Given the description of an element on the screen output the (x, y) to click on. 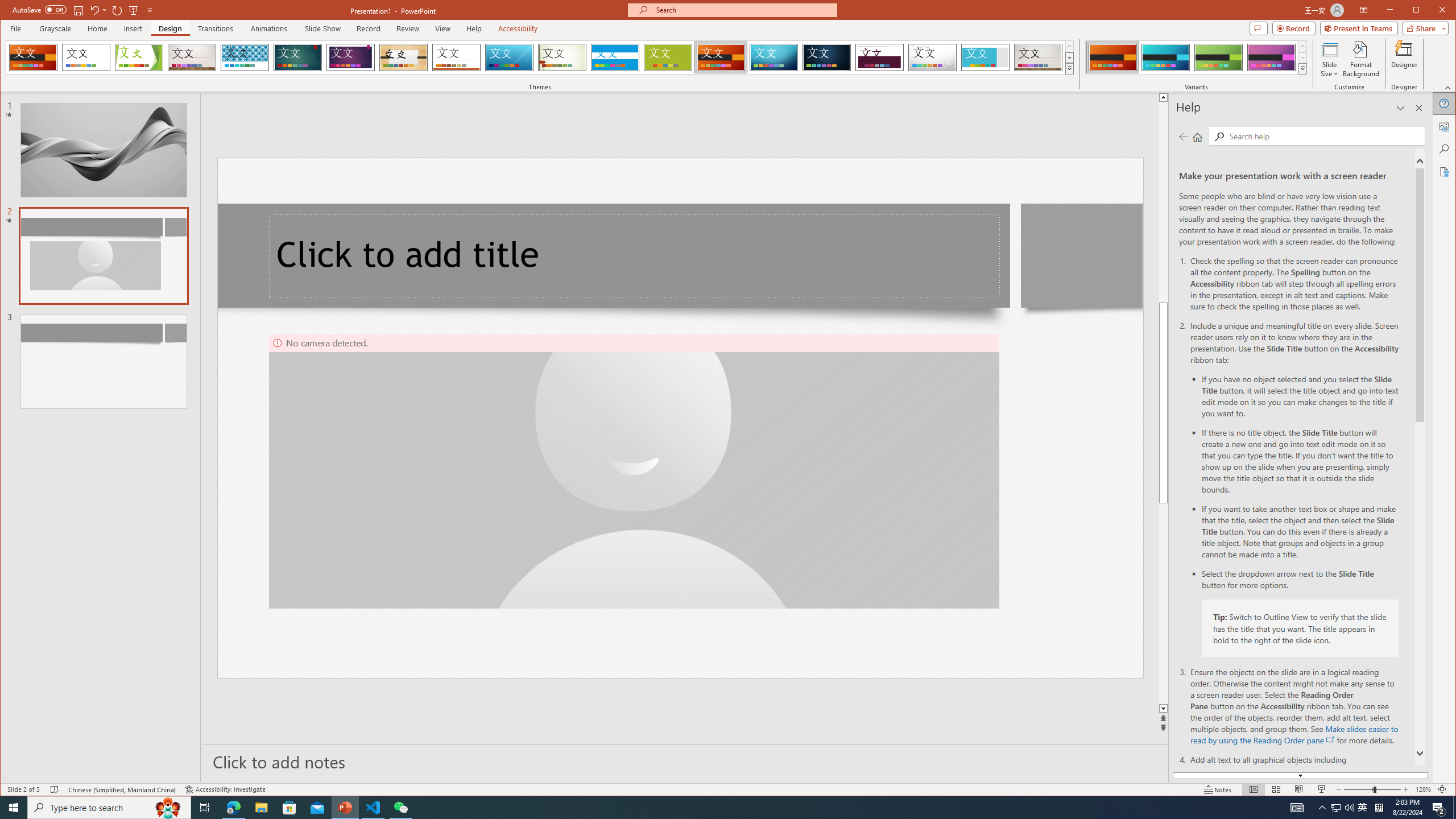
Slide Size (1328, 59)
WeChat - 1 running window (400, 807)
Office Theme (85, 57)
